Given the description of an element on the screen output the (x, y) to click on. 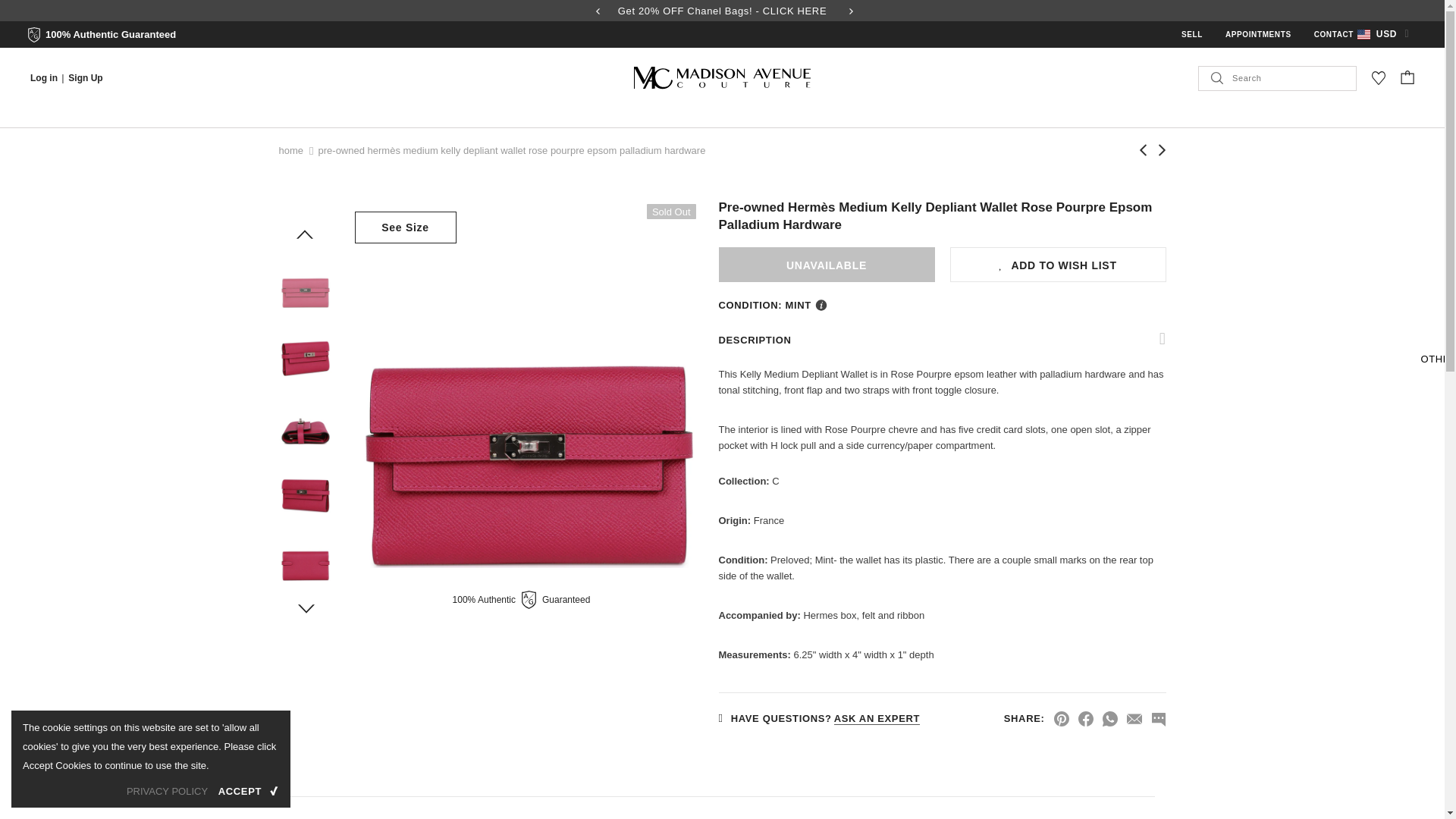
SELL (1191, 34)
Cart Icon (1406, 76)
CONTACT (1334, 34)
Wishlist Icon (1378, 78)
Ask An Expert (877, 718)
Unavailable (826, 264)
Log in (44, 76)
Sign Up (84, 76)
APPOINTMENTS (1258, 34)
